Given the description of an element on the screen output the (x, y) to click on. 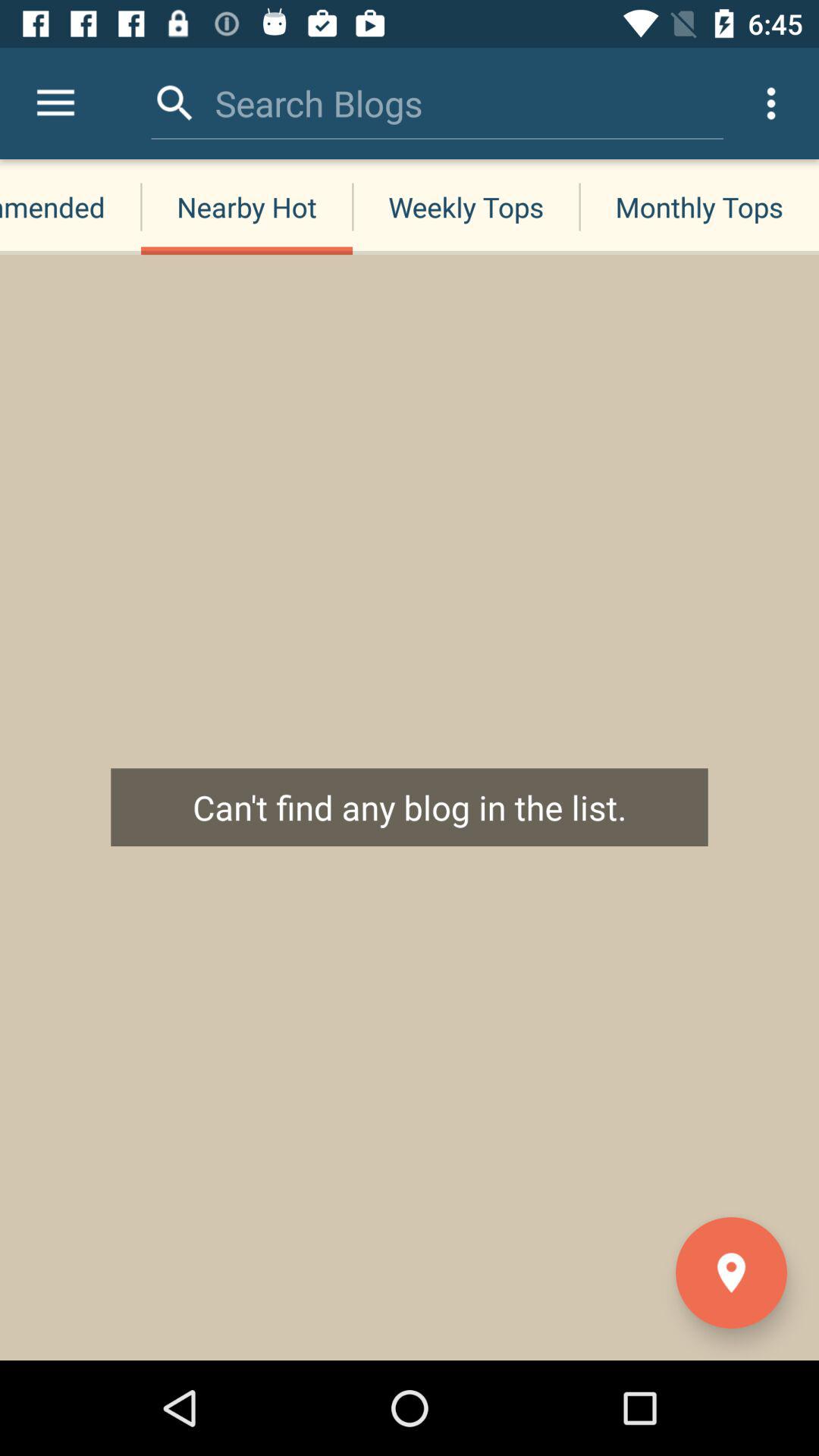
click icon next to the nearby hot icon (70, 206)
